Given the description of an element on the screen output the (x, y) to click on. 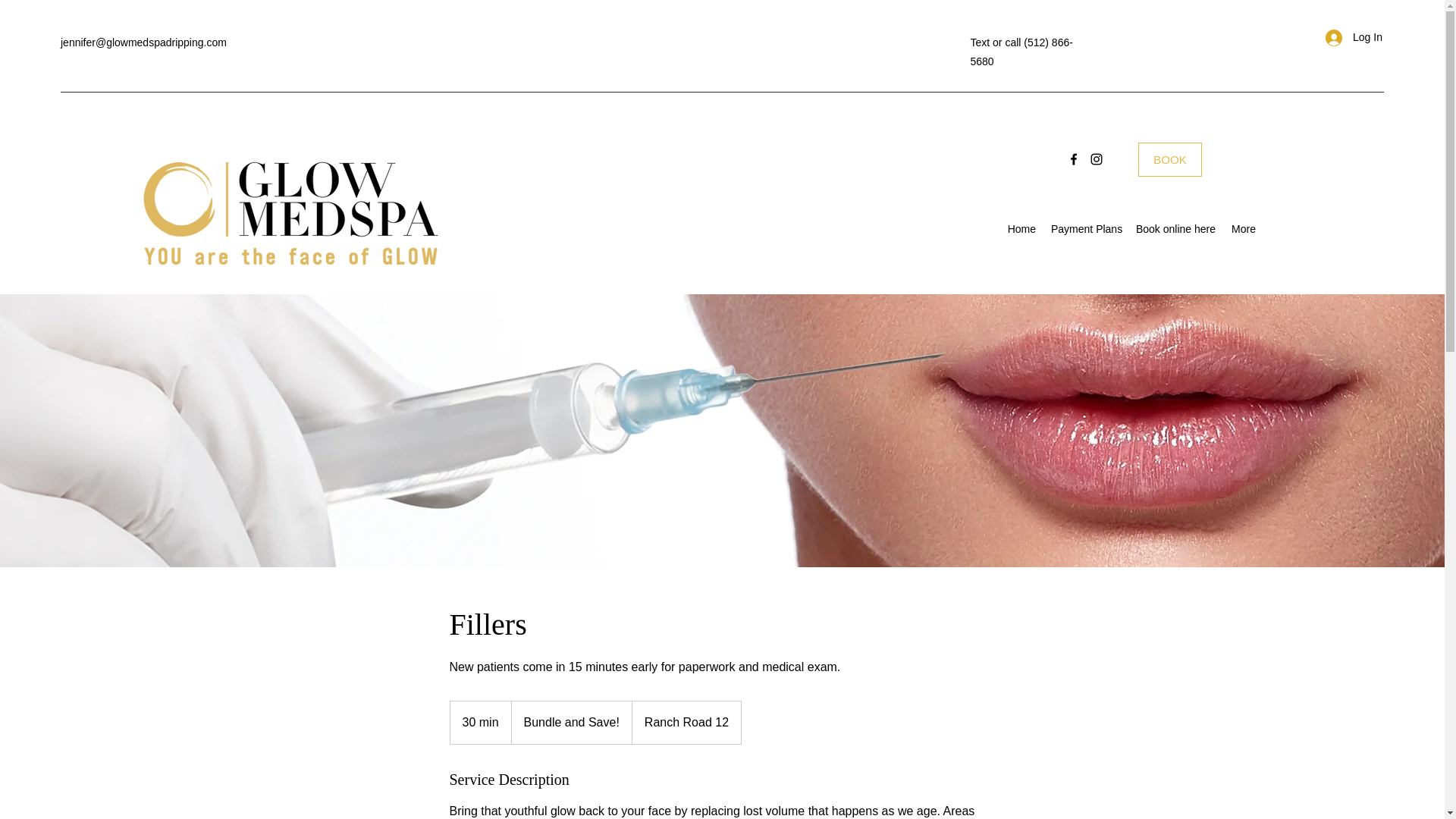
BOOK (1170, 159)
Log In (1348, 37)
Book online here (1174, 229)
Payment Plans (1084, 229)
Home (1020, 229)
